Given the description of an element on the screen output the (x, y) to click on. 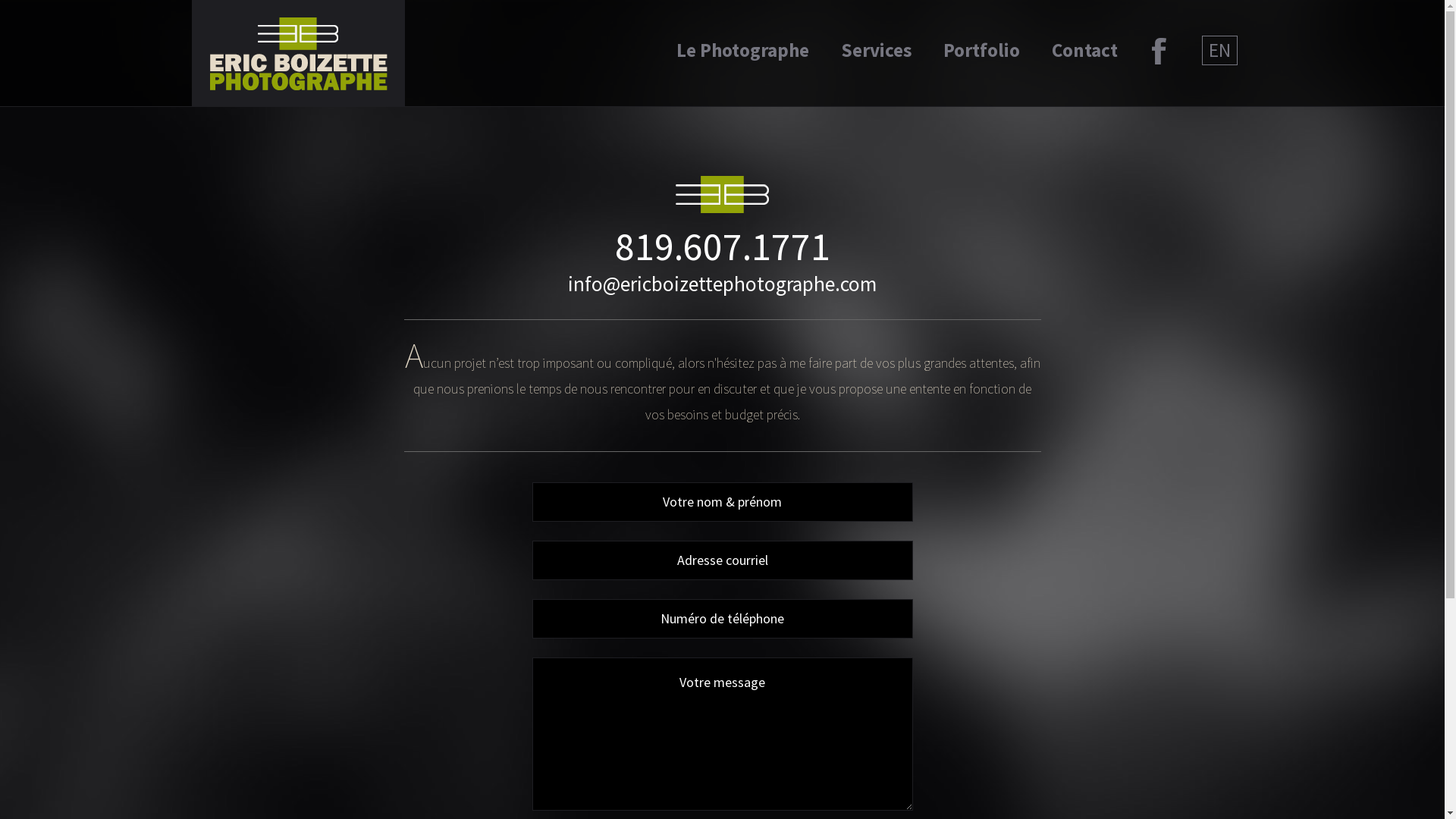
info@ericboizettephotographe.com Element type: text (721, 283)
Le Photographe Element type: text (742, 49)
Contact Element type: text (1084, 49)
EN Element type: text (1218, 50)
Portfolio Element type: text (981, 49)
Services Element type: text (875, 49)
819.607.1771 Element type: text (721, 245)
